Given the description of an element on the screen output the (x, y) to click on. 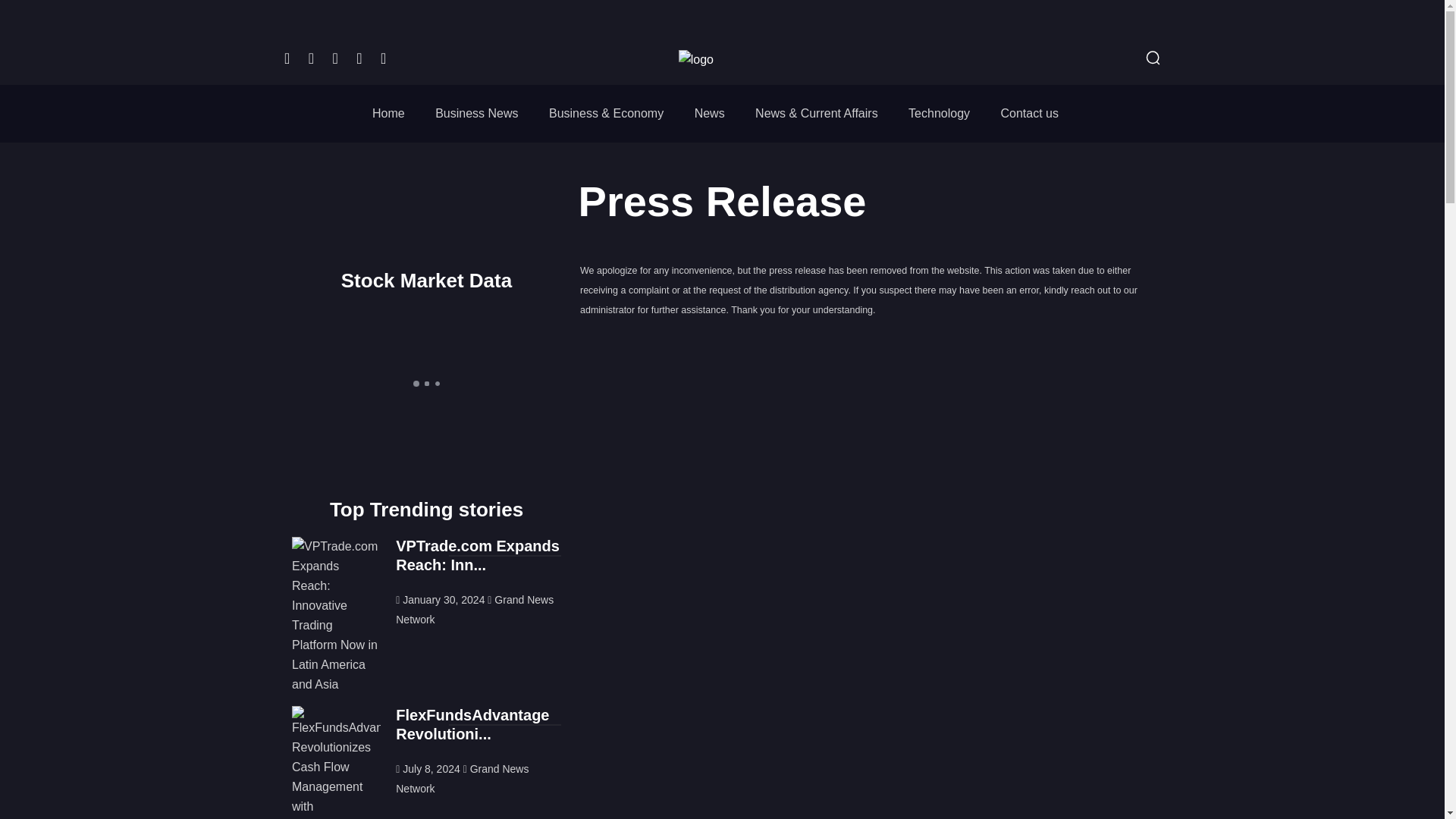
VPTrade.com Expands Reach: Inn... (477, 555)
News (709, 113)
Home (388, 113)
Business News (476, 113)
Technology (939, 113)
Contact us (1029, 113)
July 8, 2024 (429, 768)
FlexFundsAdvantage Revolutioni... (472, 724)
mini symbol-overview TradingView widget (426, 383)
Grand News Network (462, 778)
January 30, 2024 (441, 599)
Grand News Network (474, 609)
